Given the description of an element on the screen output the (x, y) to click on. 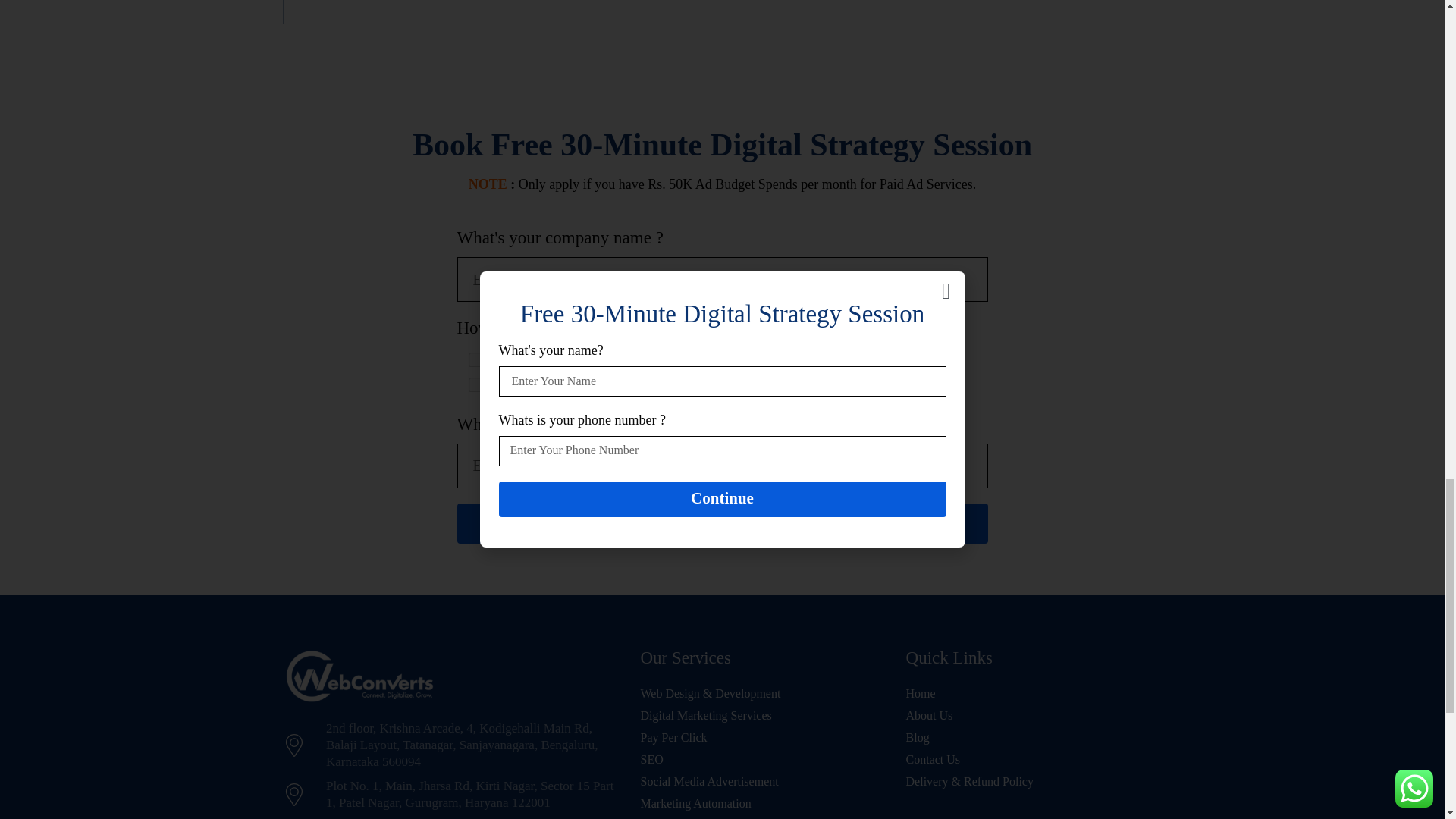
Automation (472, 382)
SEO (676, 357)
Website  (472, 357)
Google Ads (562, 357)
Social Media Ads (747, 357)
